Given the description of an element on the screen output the (x, y) to click on. 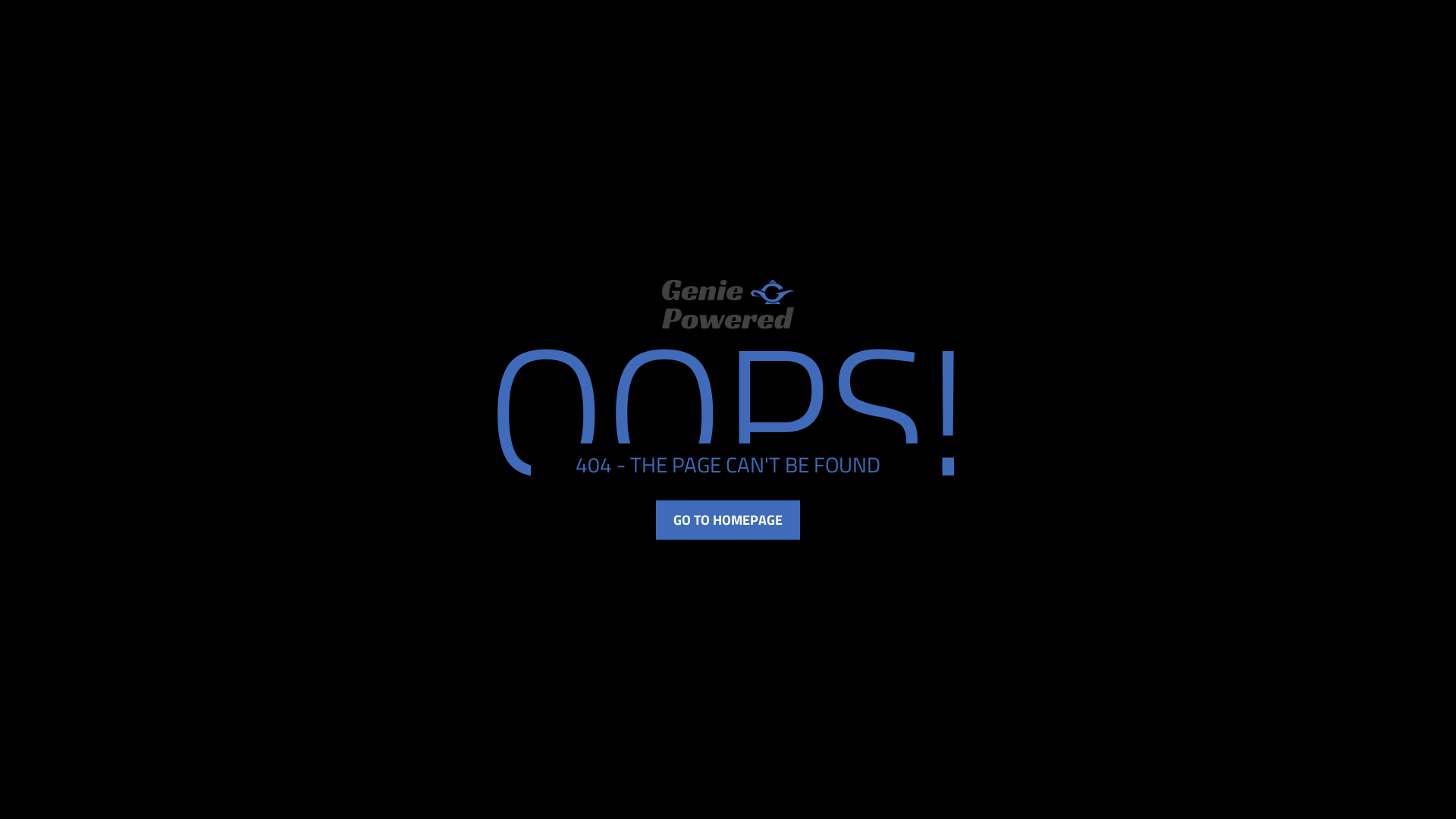
GO TO HOMEPAGE Element type: text (727, 519)
